Given the description of an element on the screen output the (x, y) to click on. 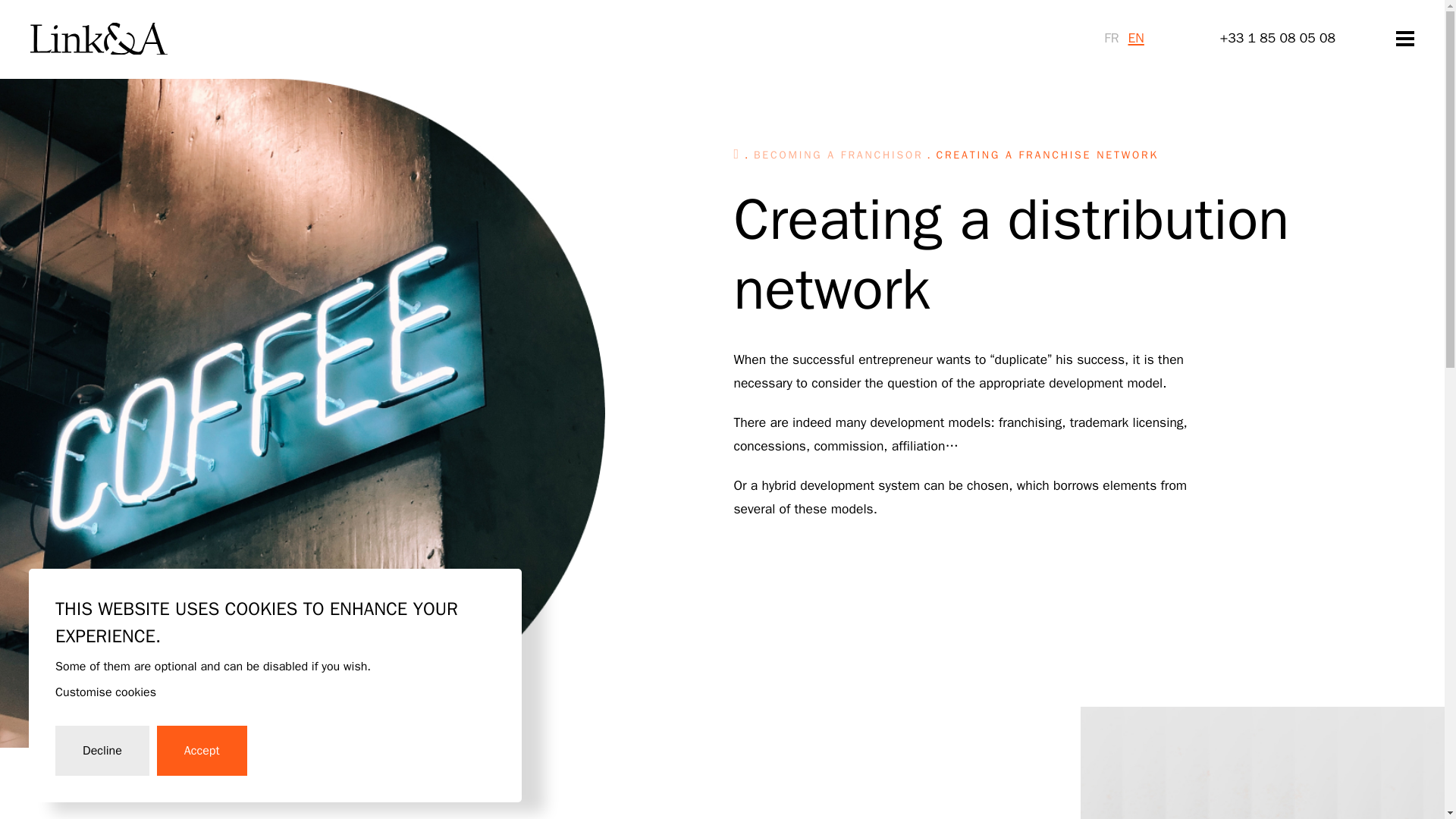
Customise cookies (105, 692)
Accept (202, 750)
Decline (102, 750)
CREATING A FRANCHISE NETWORK (1047, 154)
BECOMING A FRANCHISOR (838, 154)
EN (1136, 37)
